Given the description of an element on the screen output the (x, y) to click on. 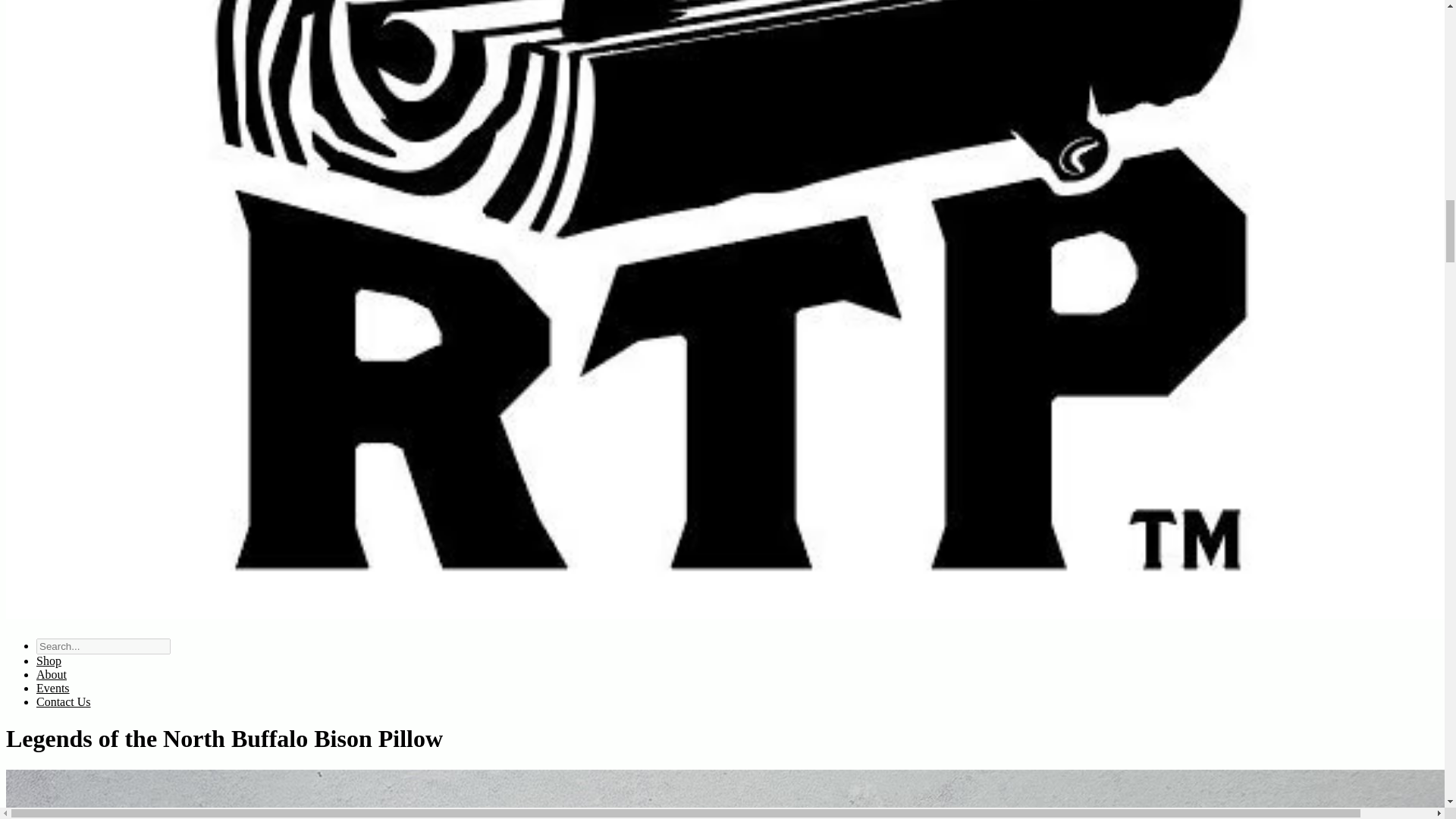
Shop (48, 660)
Contact Us (63, 701)
About (51, 674)
Events (52, 687)
